Given the description of an element on the screen output the (x, y) to click on. 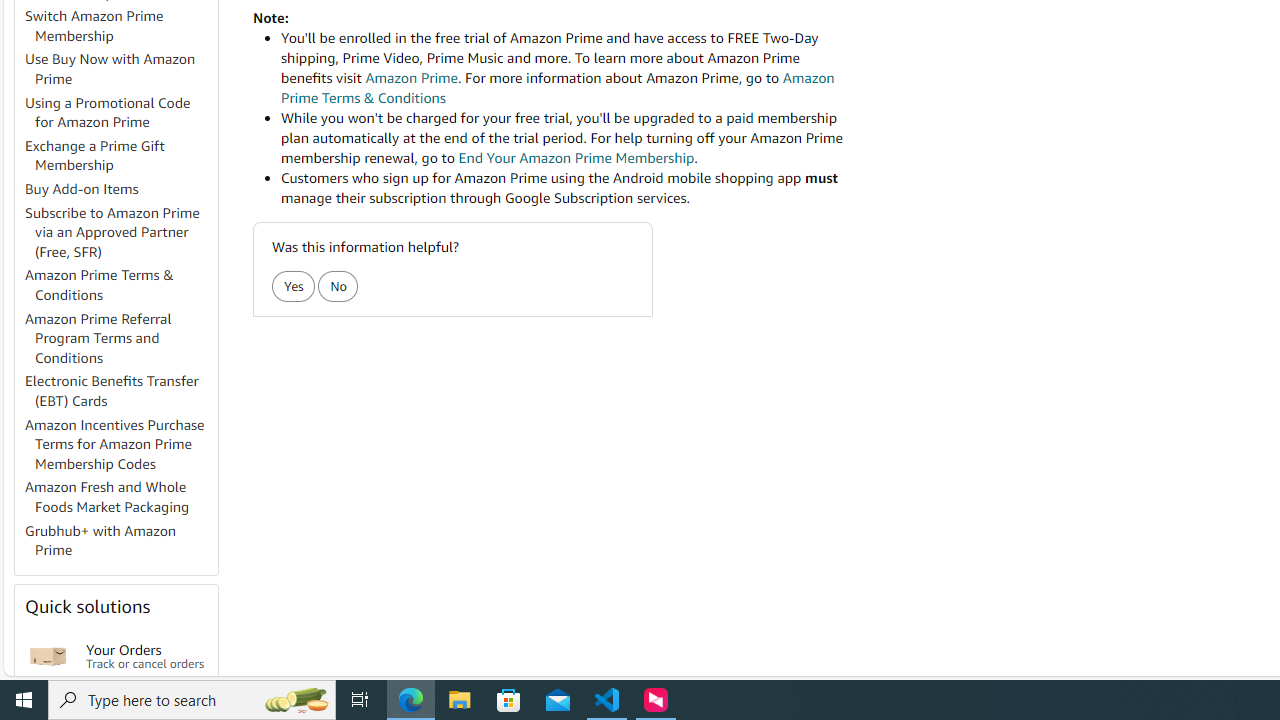
Using a Promotional Code for Amazon Prime (107, 111)
Buy Add-on Items (82, 189)
Electronic Benefits Transfer (EBT) Cards (111, 390)
Switch Amazon Prime Membership (120, 26)
Your Orders (48, 655)
Electronic Benefits Transfer (EBT) Cards (120, 391)
Amazon Fresh and Whole Foods Market Packaging (120, 497)
Exchange a Prime Gift Membership (120, 156)
Your Orders Track or cancel orders (145, 656)
Amazon Prime Referral Program Terms and Conditions (120, 338)
Amazon Prime (411, 78)
